Given the description of an element on the screen output the (x, y) to click on. 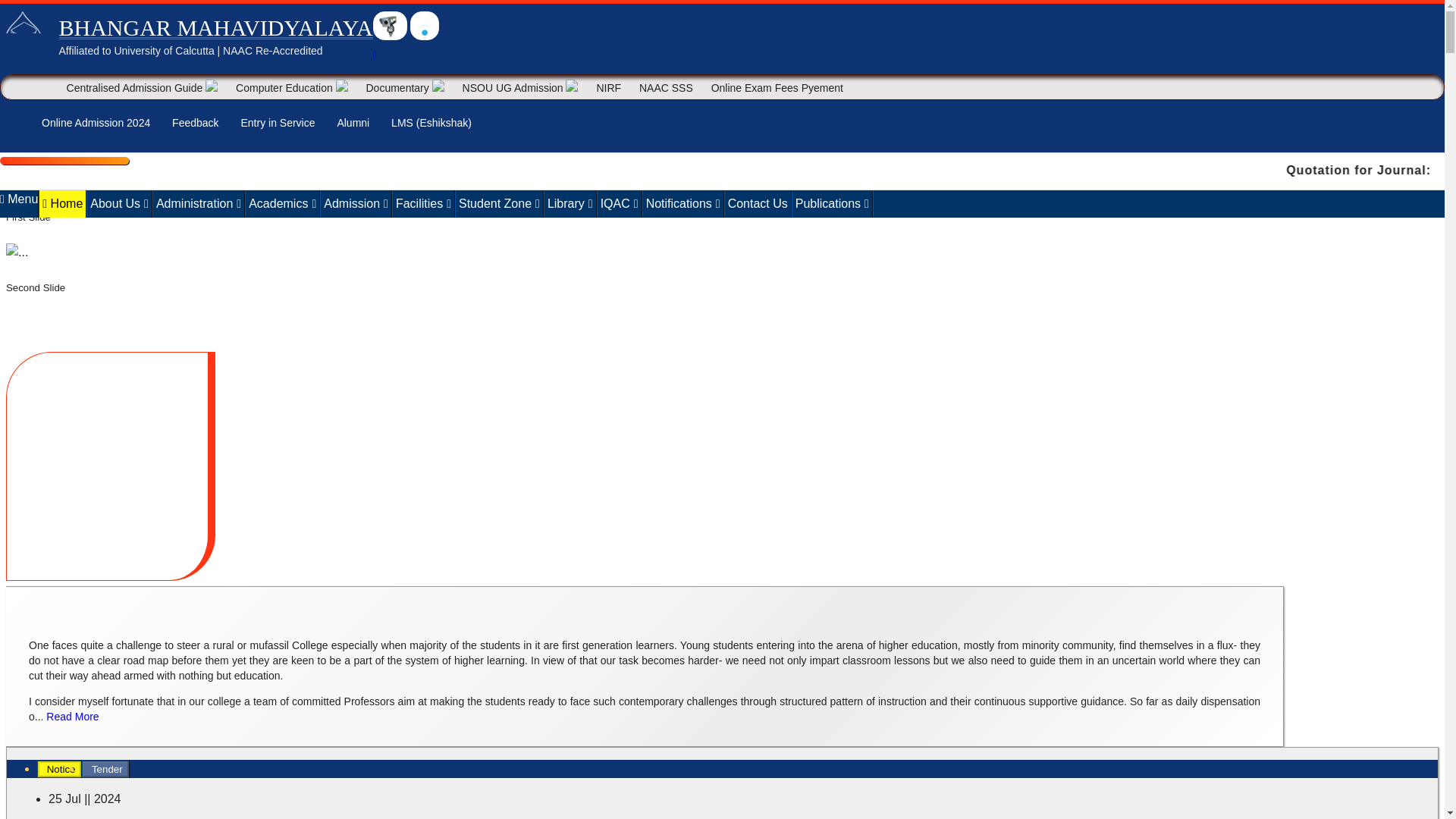
Entry in Service (276, 122)
Alumni (353, 122)
Centralised Admission Guide (142, 87)
Computer Education (291, 87)
NAAC SSS (665, 87)
NSOU UG Admission (520, 87)
Online Exam Fees Pyement (776, 87)
Documentary (404, 87)
NIRF (608, 87)
Online Admission 2024 (95, 122)
Feedback (194, 122)
